Given the description of an element on the screen output the (x, y) to click on. 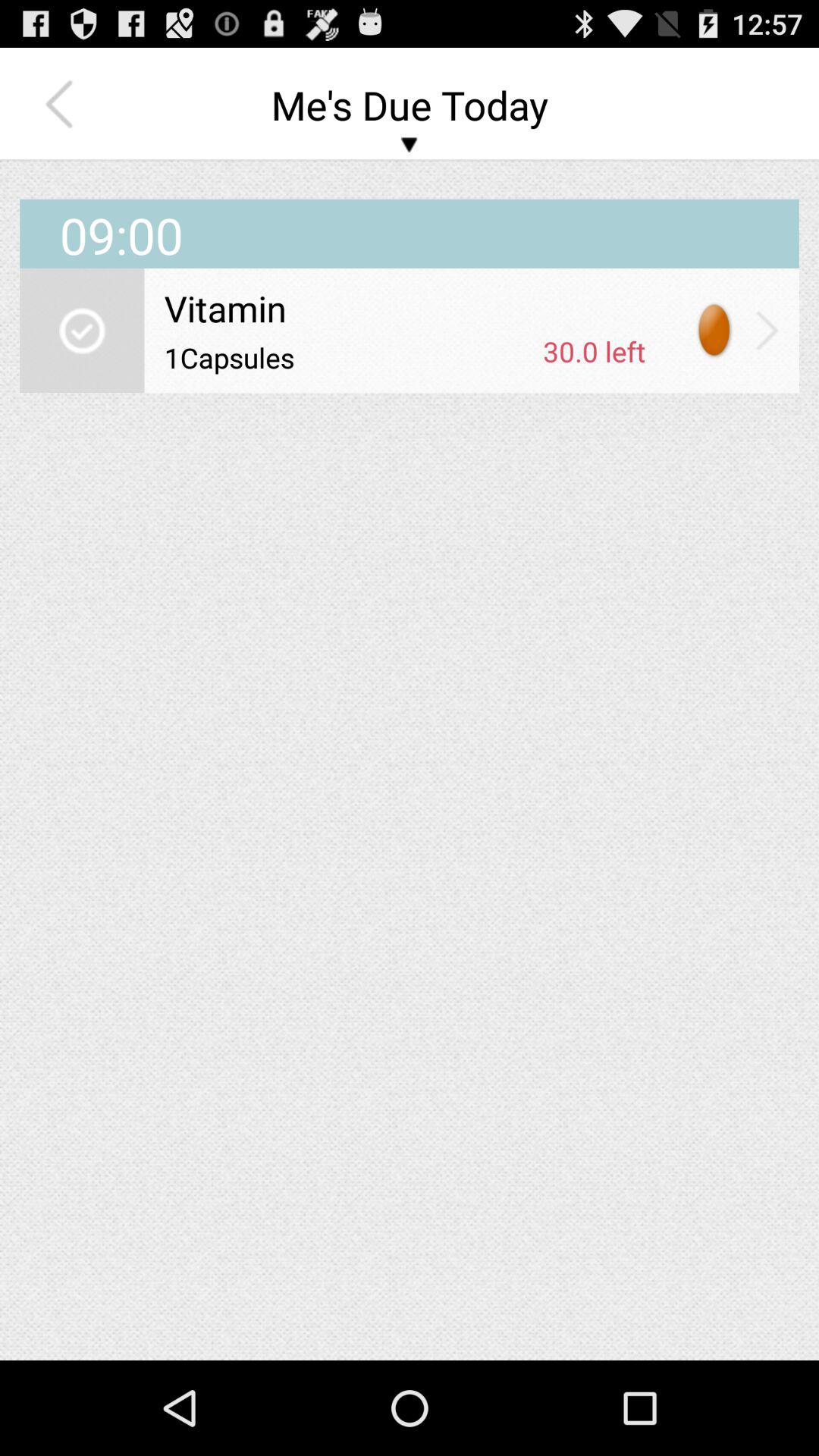
flip until 30.0 left icon (594, 351)
